Given the description of an element on the screen output the (x, y) to click on. 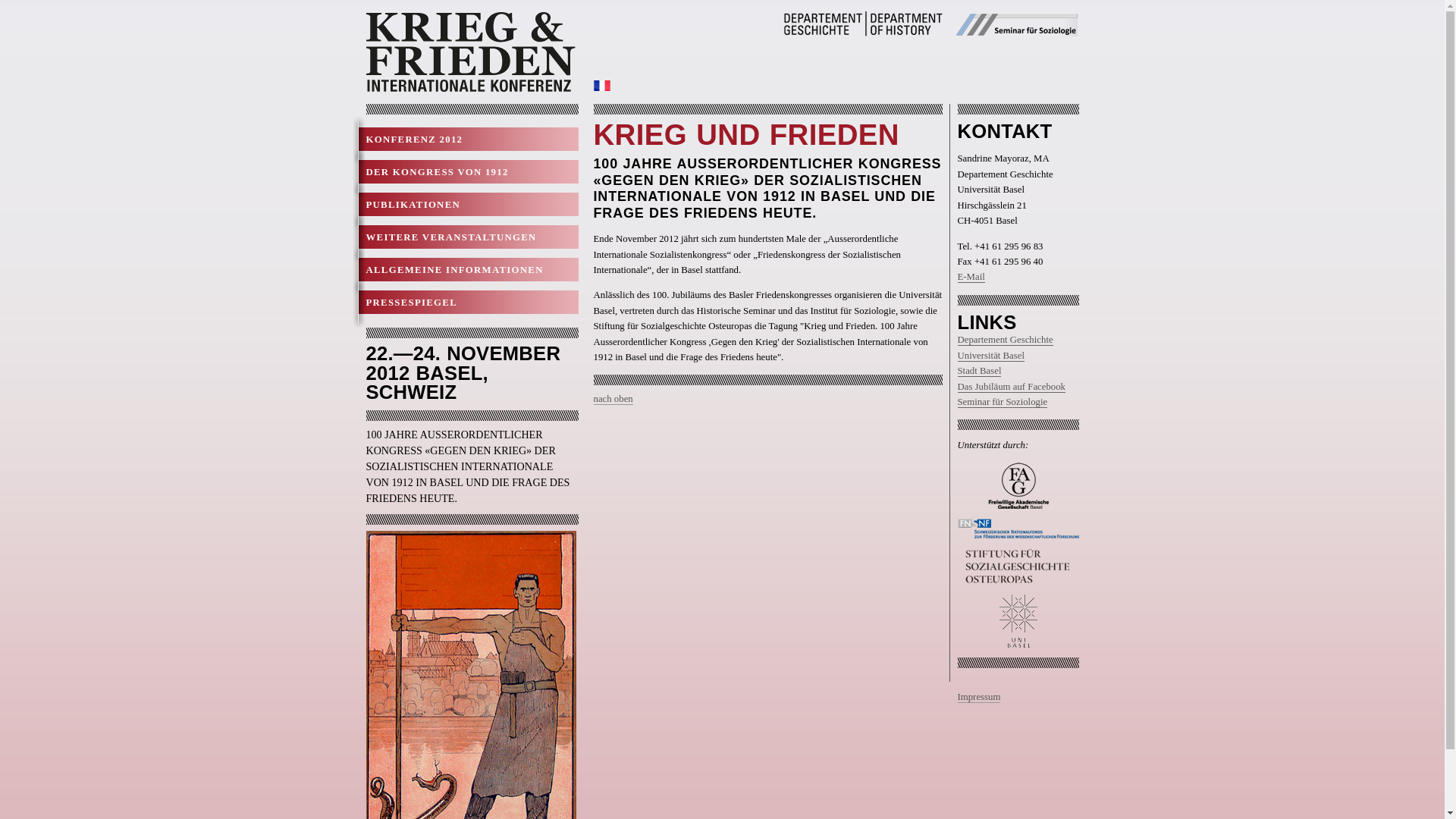
nach oben Element type: text (612, 398)
KONFERENZ 2012 Element type: text (467, 138)
PRESSESPIEGEL Element type: text (467, 301)
WEITERE VERANSTALTUNGEN Element type: text (467, 236)
PUBLIKATIONEN Element type: text (467, 204)
Departement Geschichte Element type: text (1004, 339)
DER KONGRESS VON 1912 Element type: text (467, 171)
E-Mail Element type: text (970, 276)
Stadt Basel Element type: text (979, 370)
ALLGEMEINE INFORMATIONEN Element type: text (467, 269)
Impressum Element type: text (978, 696)
